Given the description of an element on the screen output the (x, y) to click on. 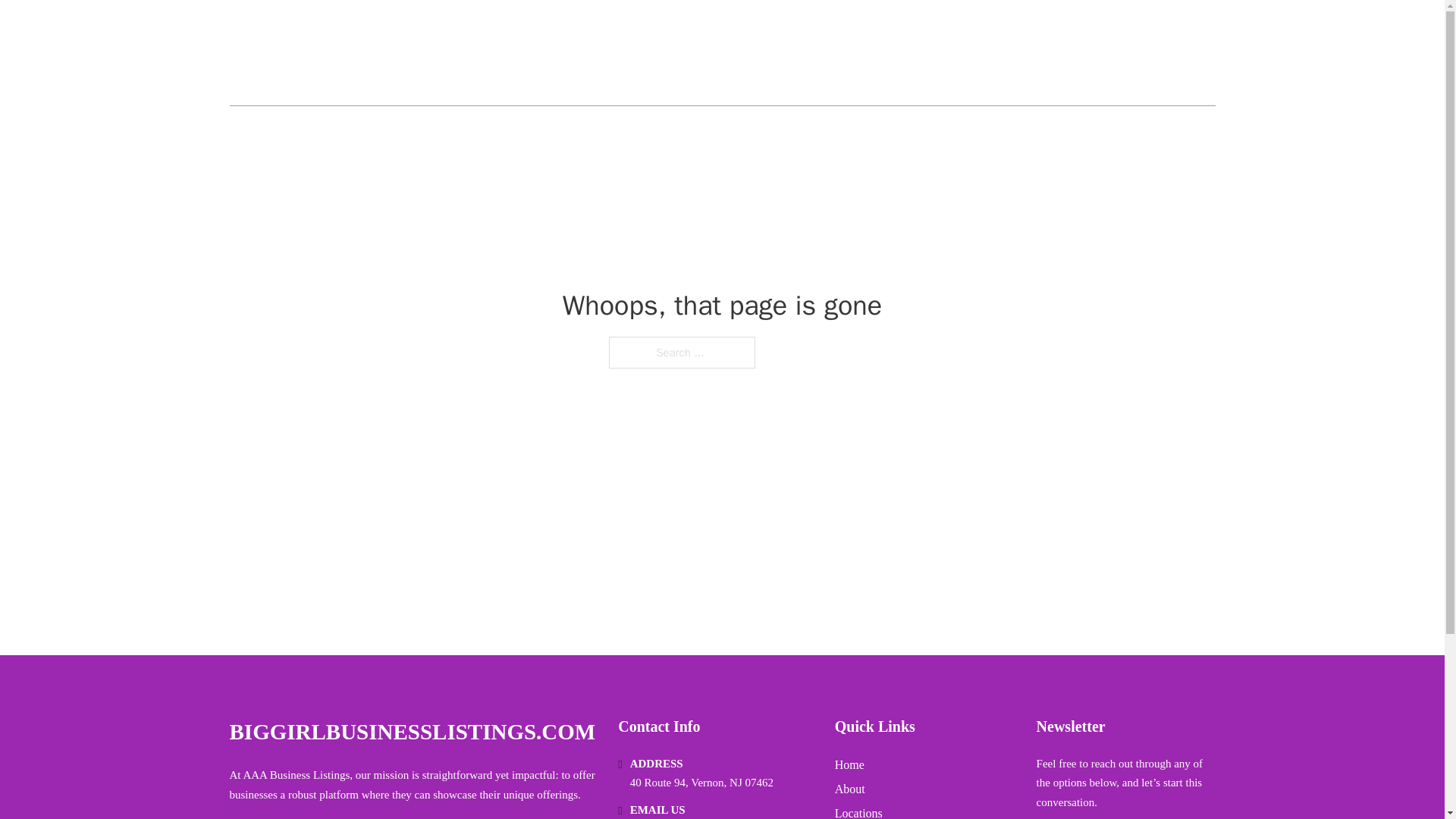
Home (849, 764)
BIGGIRLBUSINESSLISTINGS.COM (411, 732)
HOME (1032, 53)
LOCATIONS (1105, 53)
Locations (858, 811)
BIGGIRLBUSINESSLISTINGS.COM (400, 52)
About (849, 788)
